Given the description of an element on the screen output the (x, y) to click on. 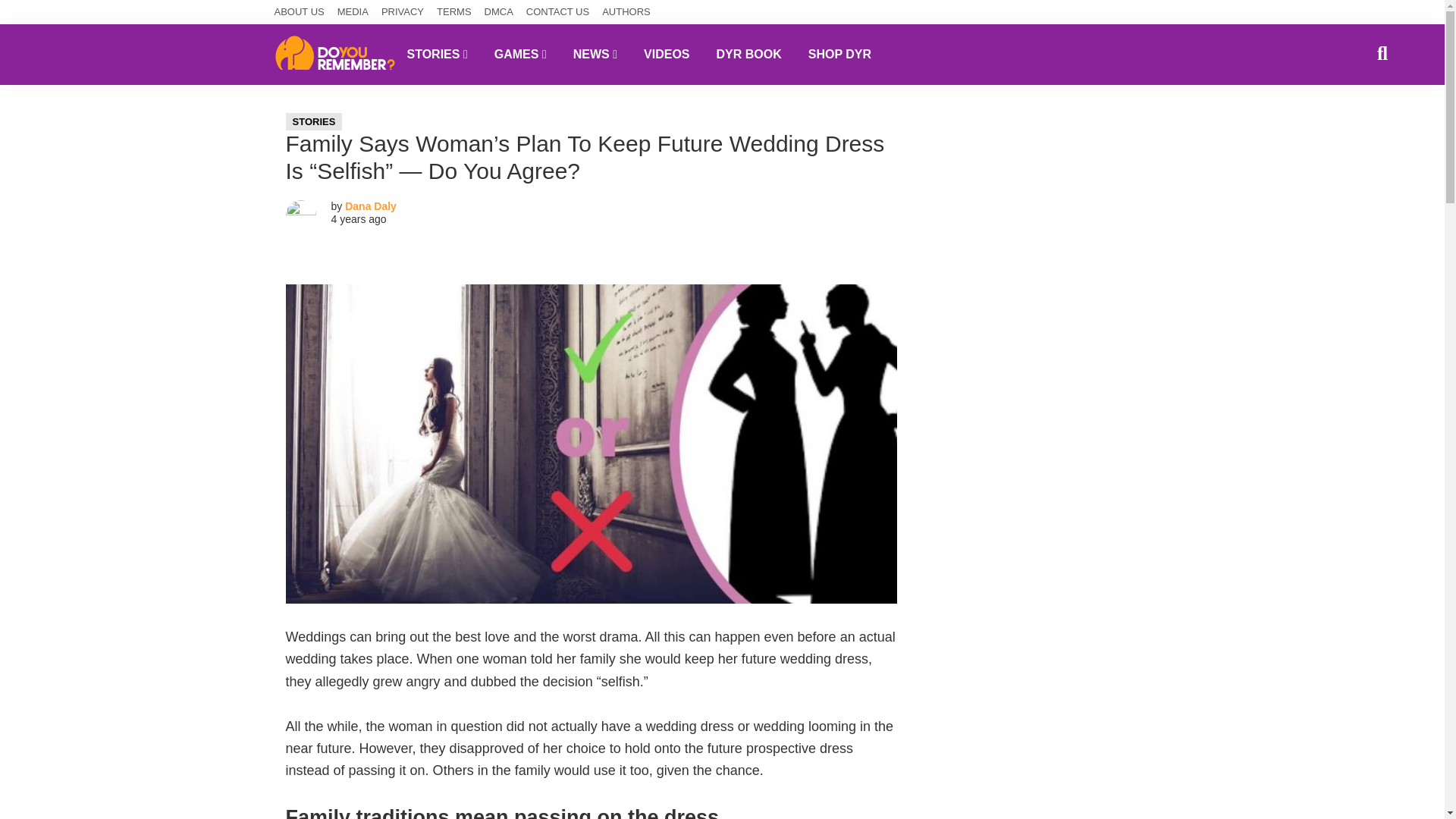
STORIES (314, 121)
DYR BOOK (748, 54)
VIDEOS (665, 54)
PRIVACY (402, 12)
ABOUT US (299, 12)
NEWS (595, 54)
MEDIA (352, 12)
GAMES (520, 54)
TERMS (453, 12)
STORIES (437, 54)
Dana Daly (370, 205)
AUTHORS (626, 12)
SHOP DYR (839, 54)
DMCA (498, 12)
